Given the description of an element on the screen output the (x, y) to click on. 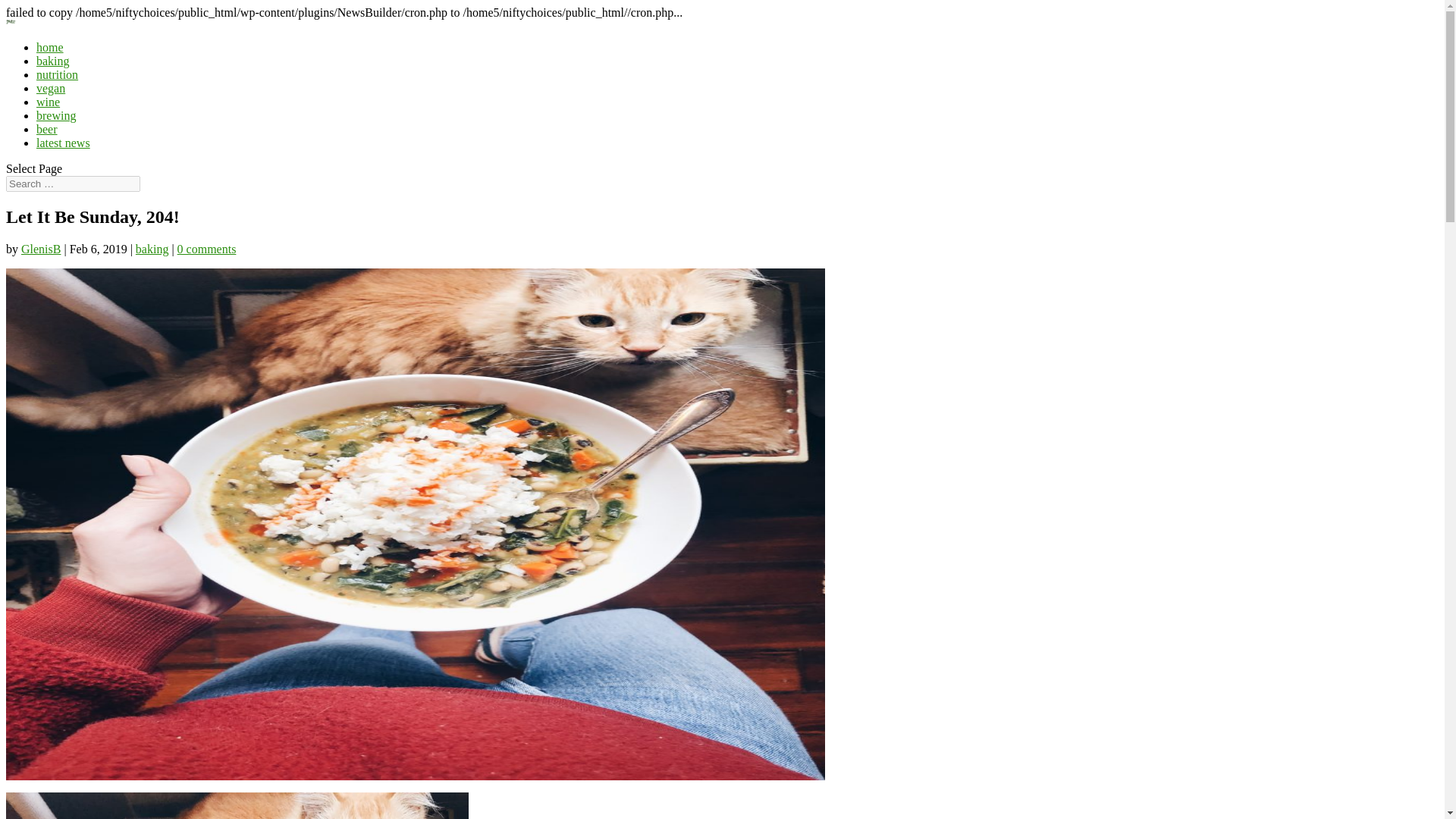
baking (151, 248)
brewing (55, 115)
Search for: (72, 183)
baking (52, 60)
home (50, 47)
beer (47, 128)
latest news (63, 142)
Posts by GlenisB (41, 248)
GlenisB (41, 248)
wine (47, 101)
